Given the description of an element on the screen output the (x, y) to click on. 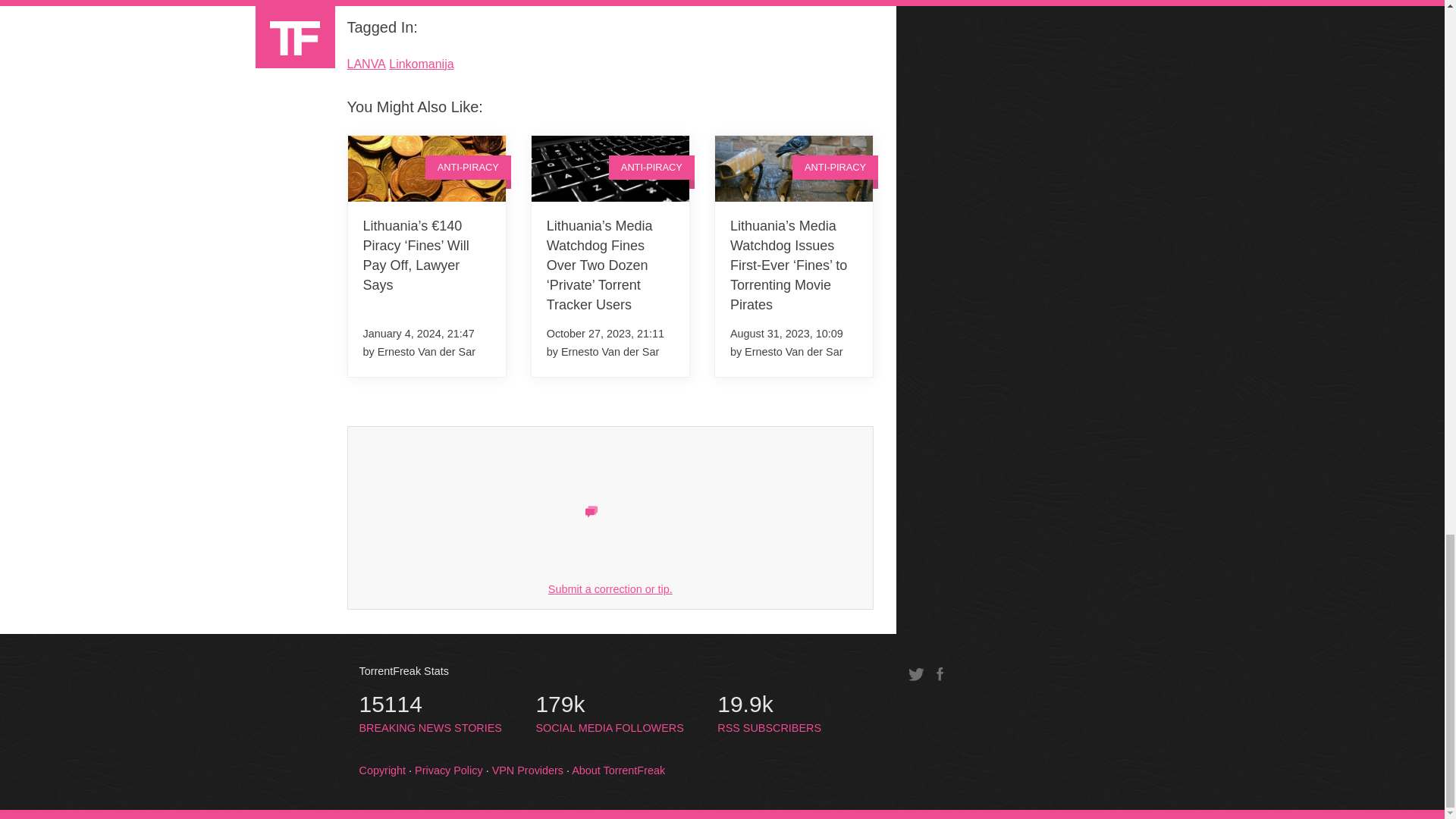
Linkomanija (420, 63)
LANVA (366, 63)
Submit a correction or tip. (430, 713)
